Given the description of an element on the screen output the (x, y) to click on. 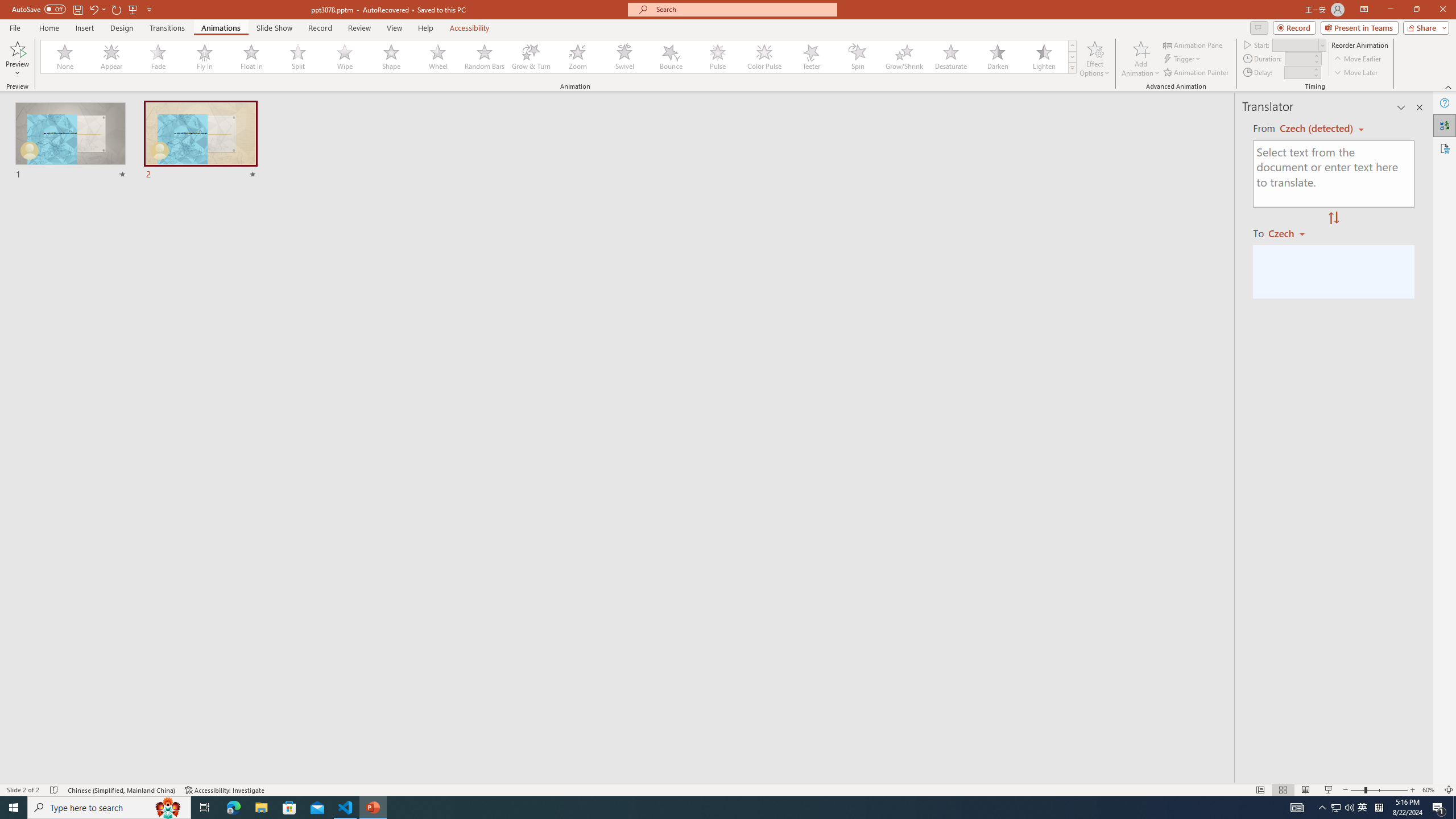
Animation Delay (1297, 72)
Animation Styles (1071, 67)
Swivel (624, 56)
More (1315, 69)
Animation Pane (1193, 44)
Accessibility Checker Accessibility: Investigate (224, 790)
